Given the description of an element on the screen output the (x, y) to click on. 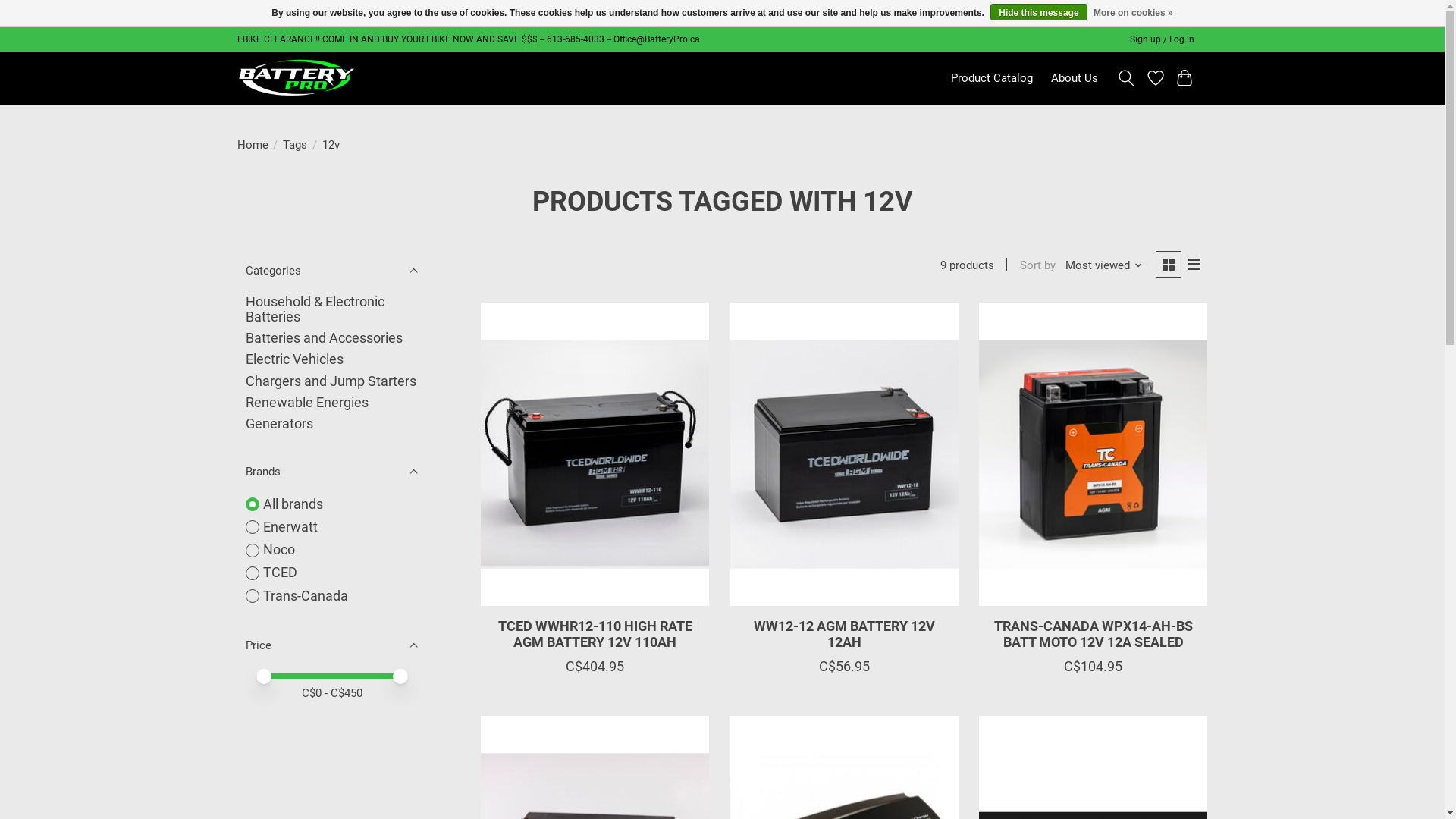
TCED WWHR12-110 High Rate AGM Battery 12V 110Ah Element type: hover (594, 453)
Home Element type: text (251, 144)
Generators Element type: text (279, 423)
TRANS-CANADA WPX14-AH-BS BATT MOTO 12V 12A SEALED Element type: text (1093, 633)
WW12-12 AGM Battery 12V 12Ah Element type: hover (844, 453)
Renewable Energies Element type: text (306, 402)
About Us Element type: text (1074, 77)
Brands Element type: text (331, 471)
Categories Element type: text (331, 270)
WW12-12 AGM BATTERY 12V 12AH Element type: text (844, 633)
Sign up / Log in Element type: text (1161, 39)
Tags Element type: text (294, 144)
Electric Vehicles Element type: text (294, 359)
Most viewed Element type: text (1103, 265)
Household & Electronic Batteries Element type: text (314, 309)
Trans-Canada WPX14-AH-BS BATT MOTO 12V 12A SEALED Element type: hover (1093, 453)
TCED WWHR12-110 HIGH RATE AGM BATTERY 12V 110AH Element type: text (595, 633)
Price Element type: text (331, 645)
Chargers and Jump Starters Element type: text (330, 381)
Hide this message Element type: text (1038, 11)
Product Catalog Element type: text (991, 77)
Batteries and Accessories Element type: text (323, 337)
